Given the description of an element on the screen output the (x, y) to click on. 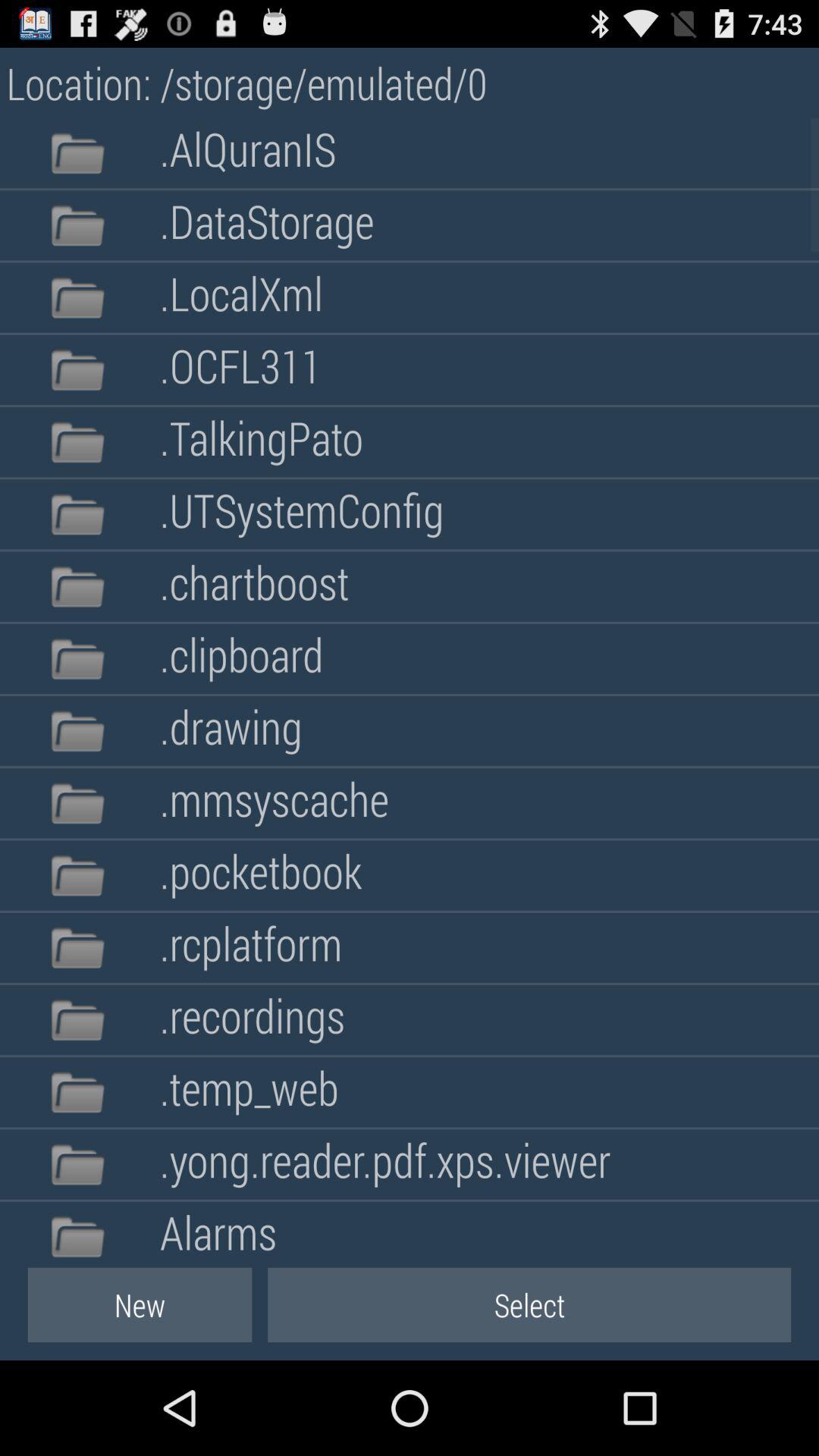
turn off item below alarms icon (529, 1304)
